Given the description of an element on the screen output the (x, y) to click on. 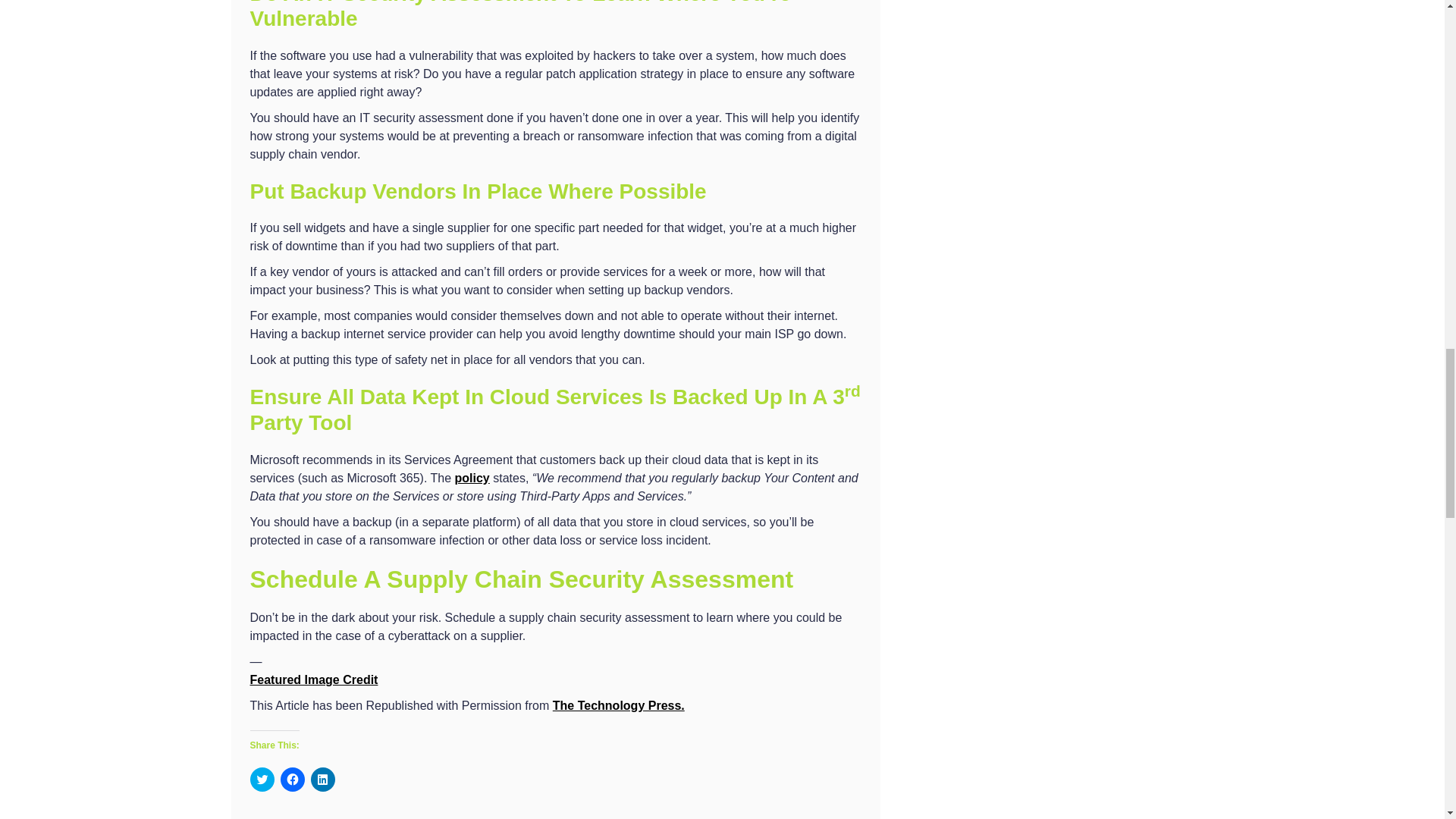
Click to share on Facebook (292, 779)
Click to share on Twitter (262, 779)
Click to share on LinkedIn (322, 779)
